Given the description of an element on the screen output the (x, y) to click on. 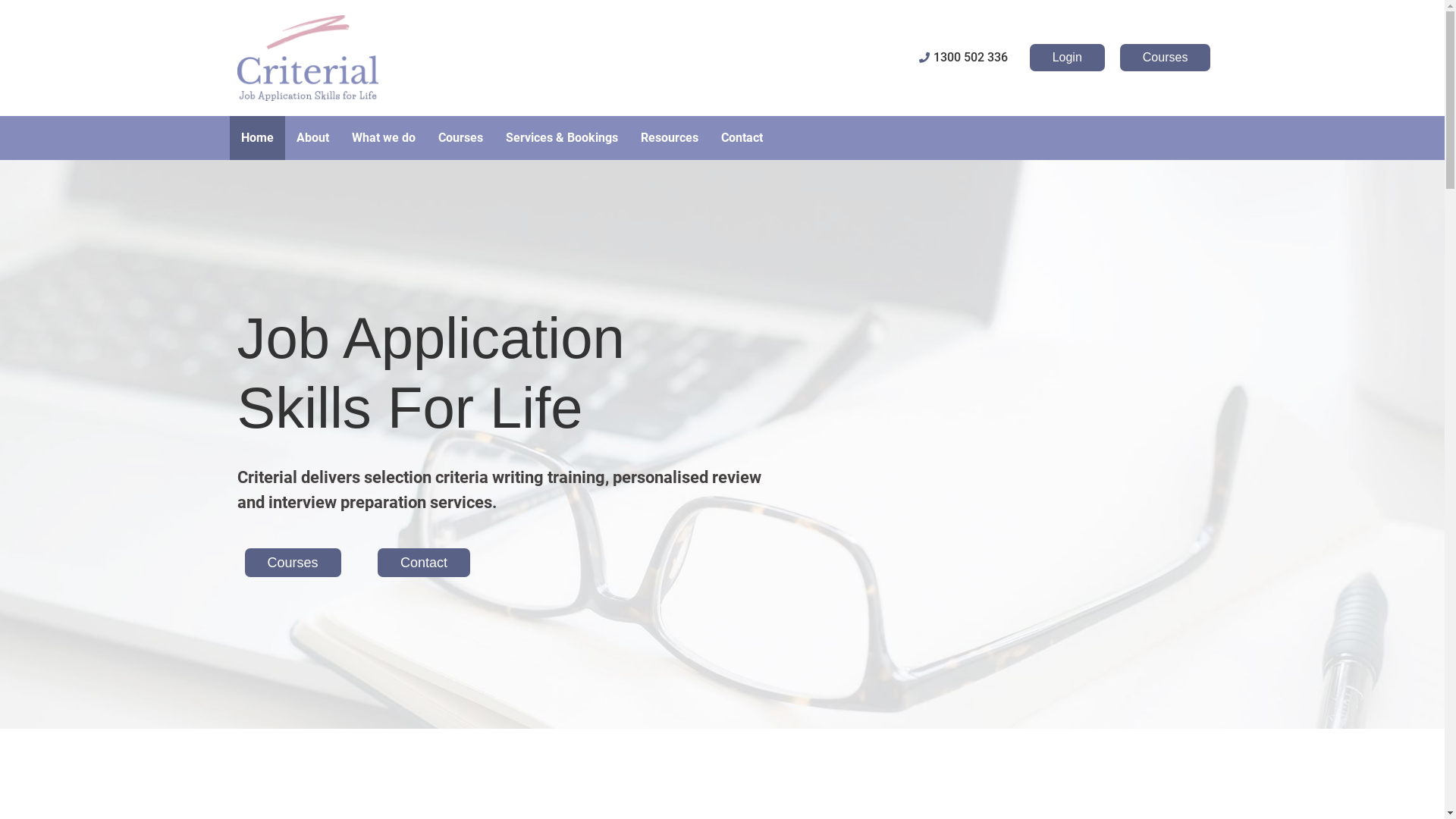
Original on Transparent Element type: hover (306, 57)
1300 502 336 Element type: text (700, 57)
Contact Element type: text (741, 138)
What we do Element type: text (382, 138)
Courses Element type: text (1165, 57)
Contact Element type: text (423, 562)
About Element type: text (312, 138)
Services & Bookings Element type: text (561, 138)
Courses Element type: text (292, 562)
Login Element type: text (1066, 57)
Courses Element type: text (459, 138)
Resources Element type: text (669, 138)
Home Element type: text (256, 138)
